Given the description of an element on the screen output the (x, y) to click on. 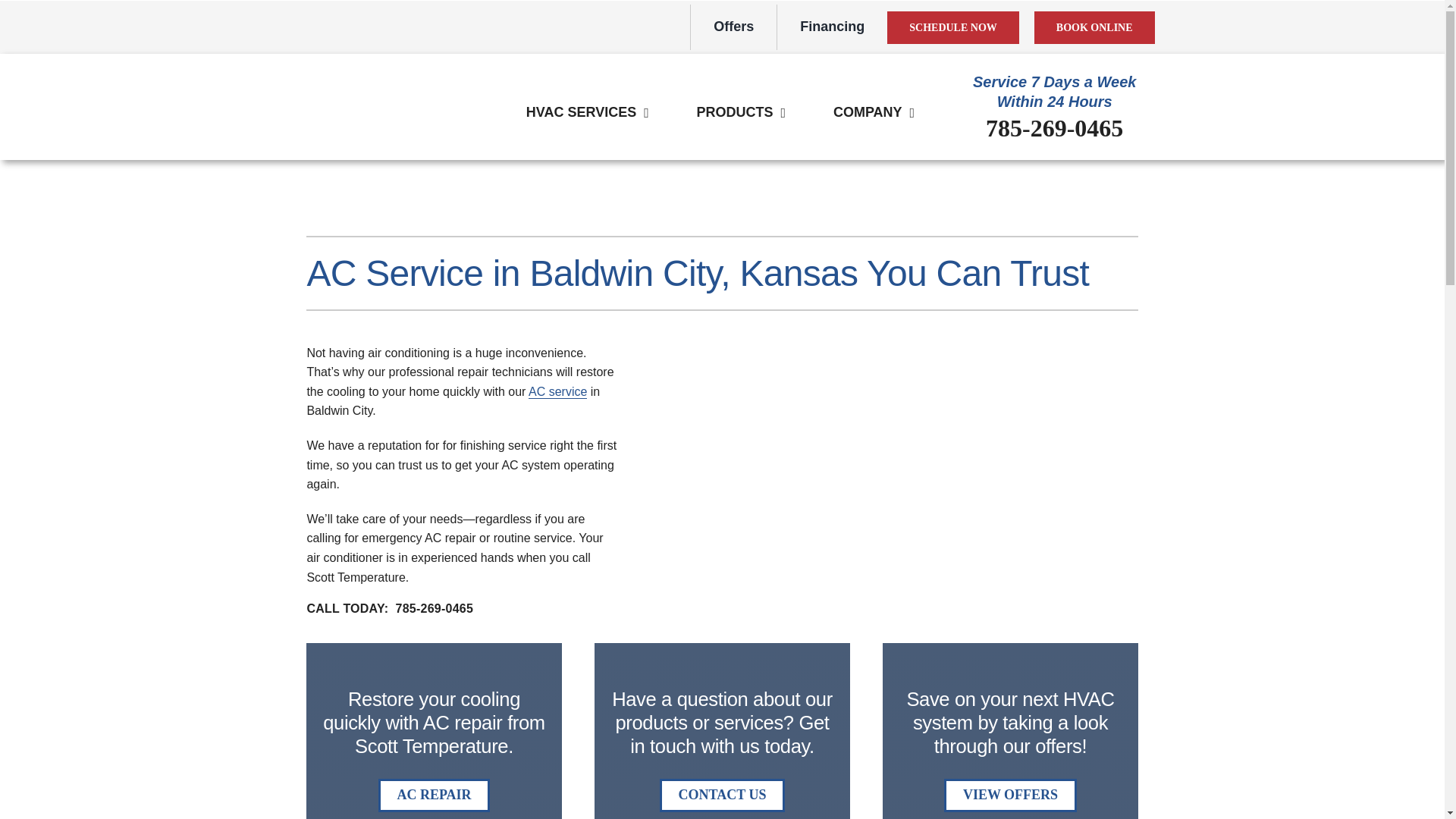
HVAC SERVICES (580, 112)
Offers (733, 26)
SCHEDULE NOW (952, 26)
COMPANY (867, 112)
BOOK ONLINE (1093, 26)
Financing (831, 26)
PRODUCTS (734, 112)
